Given the description of an element on the screen output the (x, y) to click on. 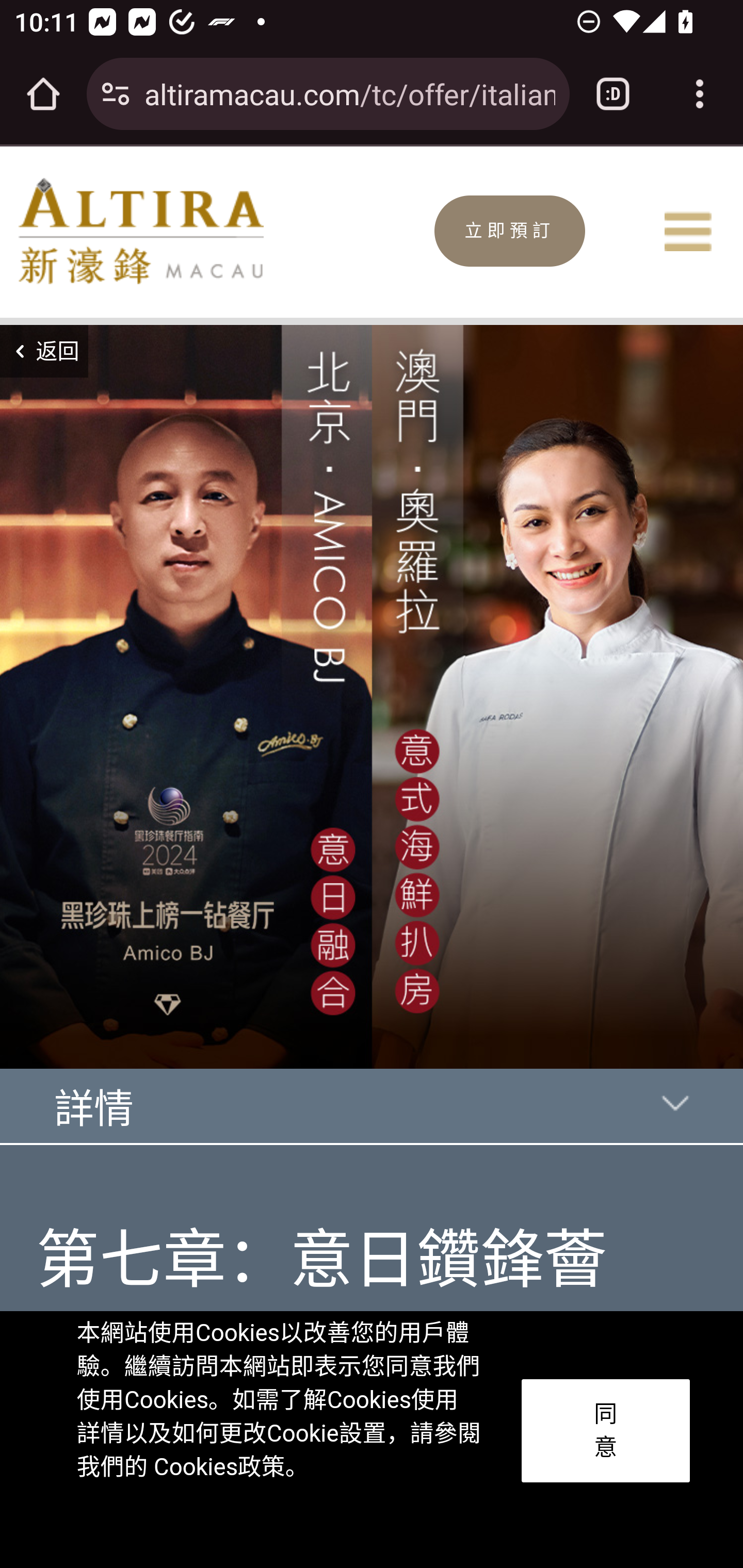
Open the home page (43, 93)
Connection is secure (115, 93)
Switch or close tabs (612, 93)
Customize and control Google Chrome (699, 93)
Logo (140, 231)
ico_menu (687, 231)
立即預訂 (509, 230)
 返回   返回 (44, 351)
詳情 (372, 1117)
Cookies政策 (218, 1467)
